Given the description of an element on the screen output the (x, y) to click on. 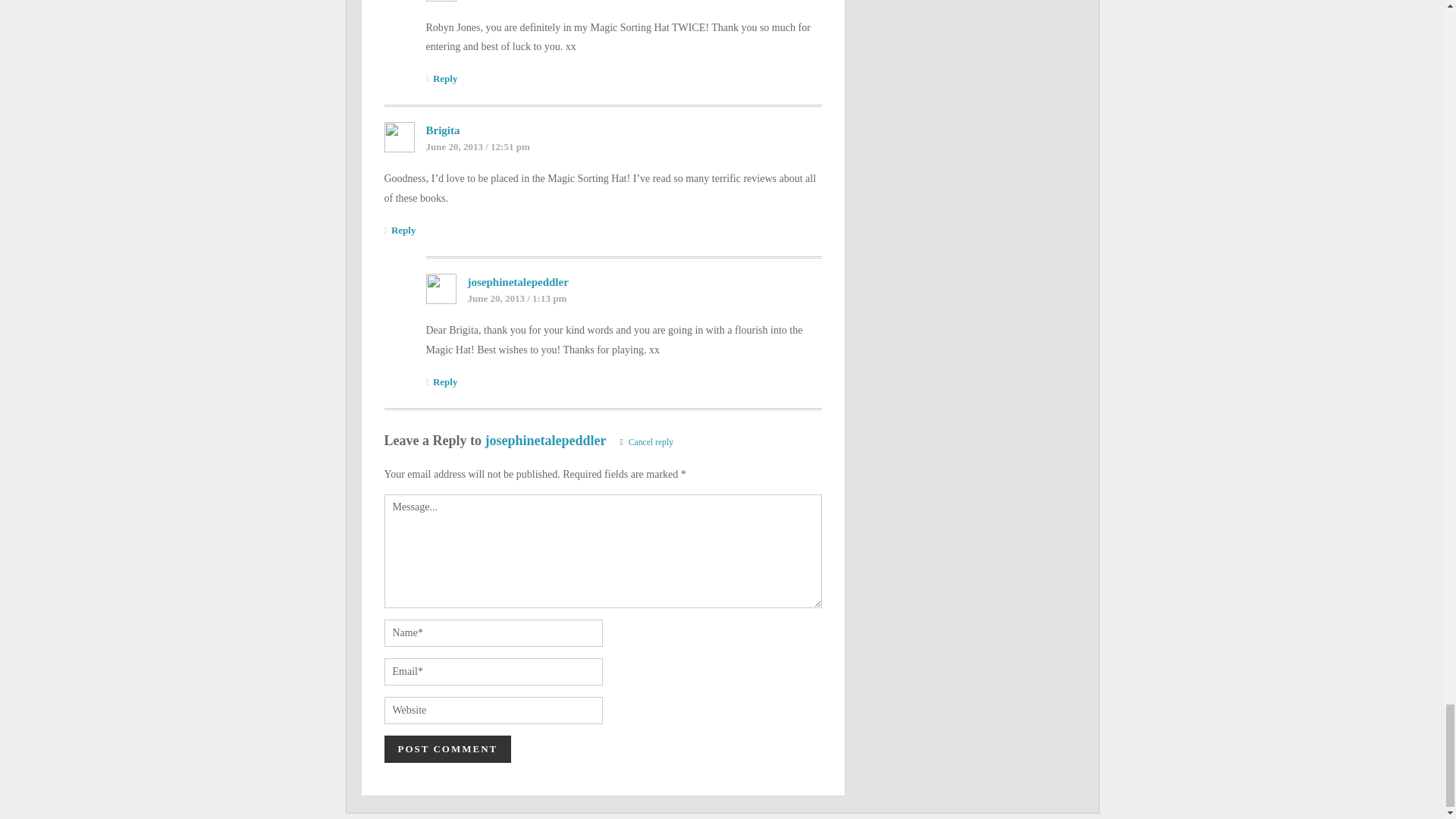
Post Comment (447, 748)
